Given the description of an element on the screen output the (x, y) to click on. 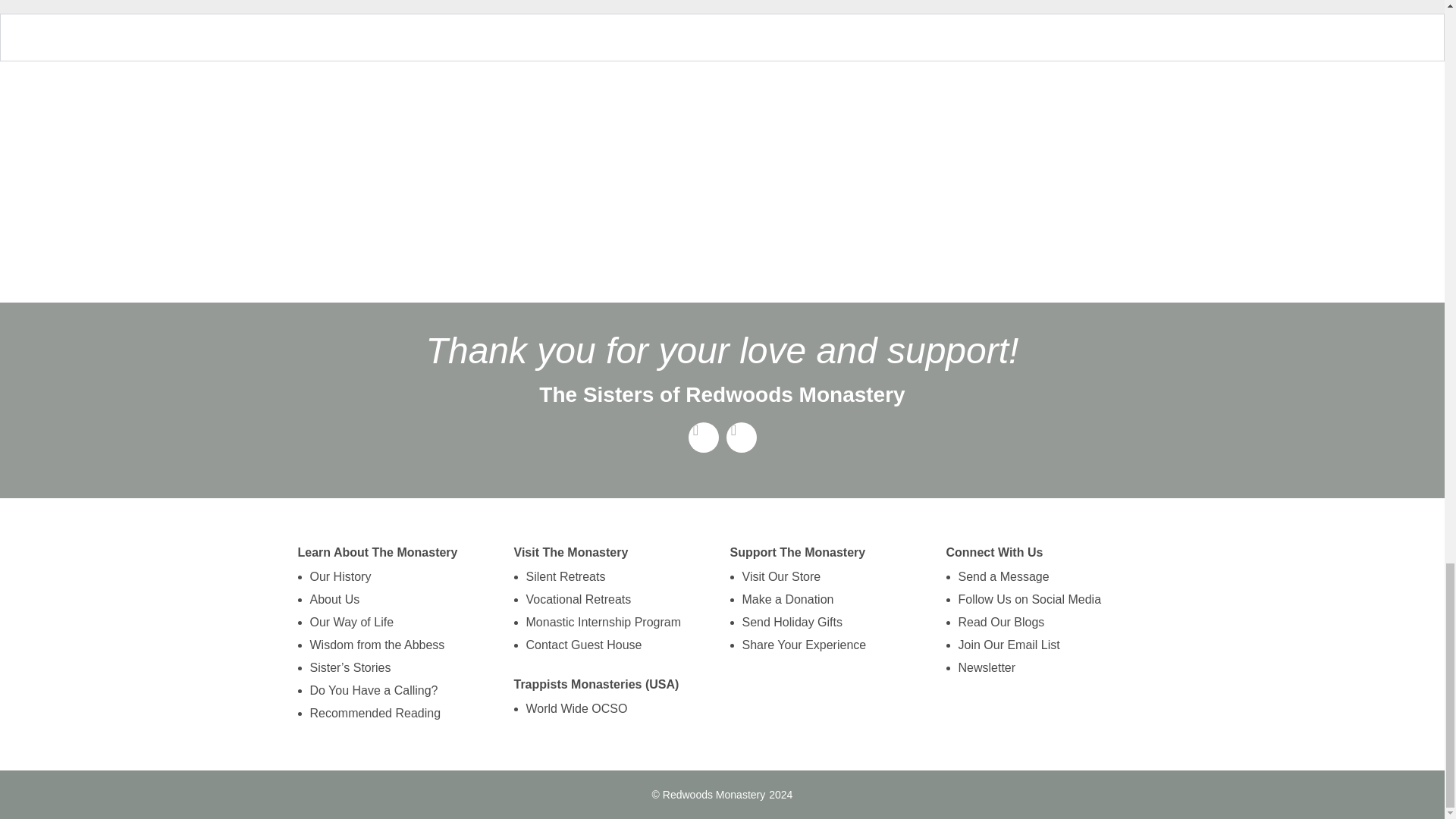
Do You Have a Calling? (376, 690)
About Us (376, 599)
Our Way of Life (376, 621)
Wisdom from the Abbess (376, 644)
Our History (376, 576)
Recommended Reading (376, 712)
Learn About The Monastery (377, 552)
